Given the description of an element on the screen output the (x, y) to click on. 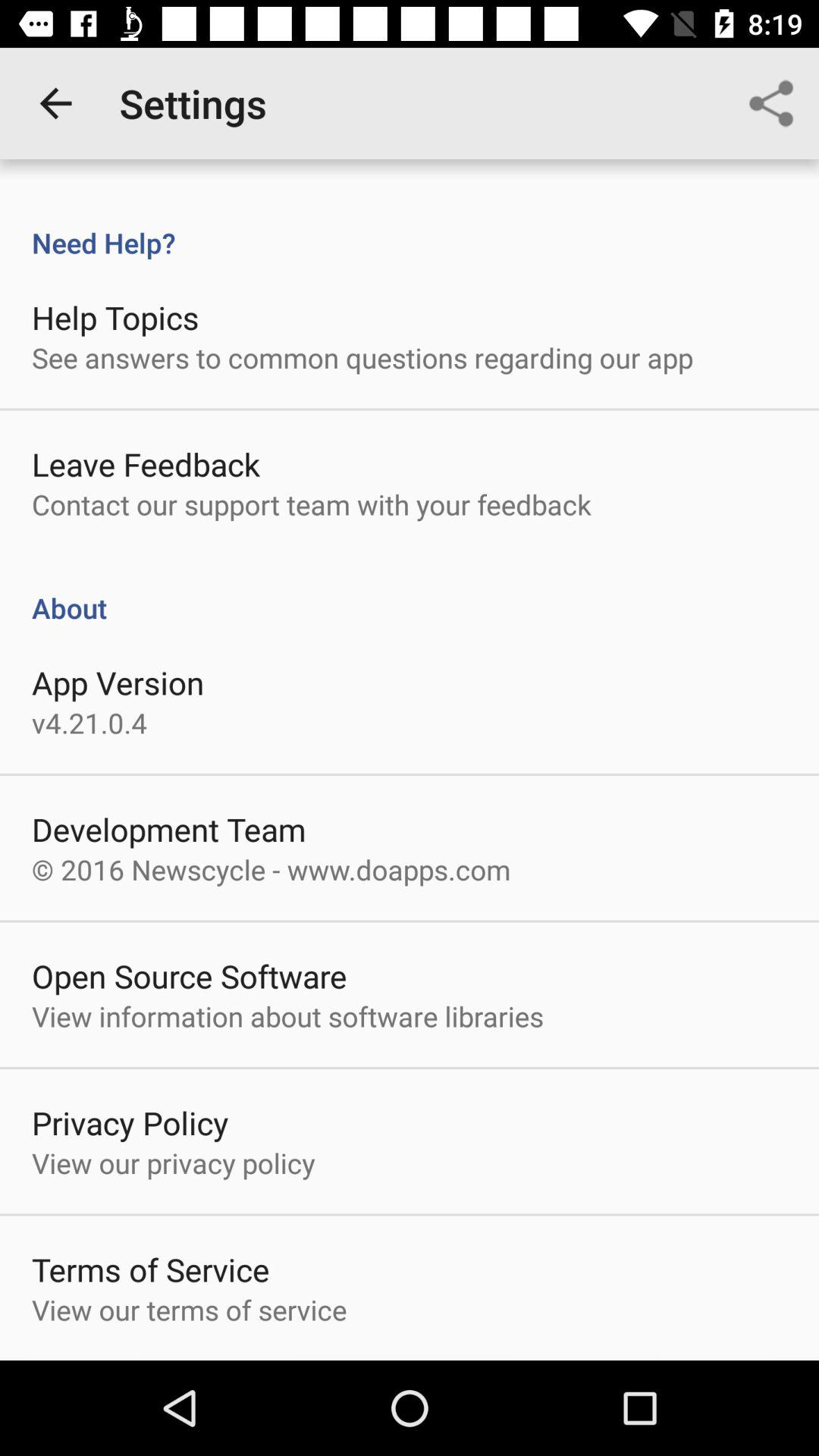
tap the need help? icon (409, 226)
